Given the description of an element on the screen output the (x, y) to click on. 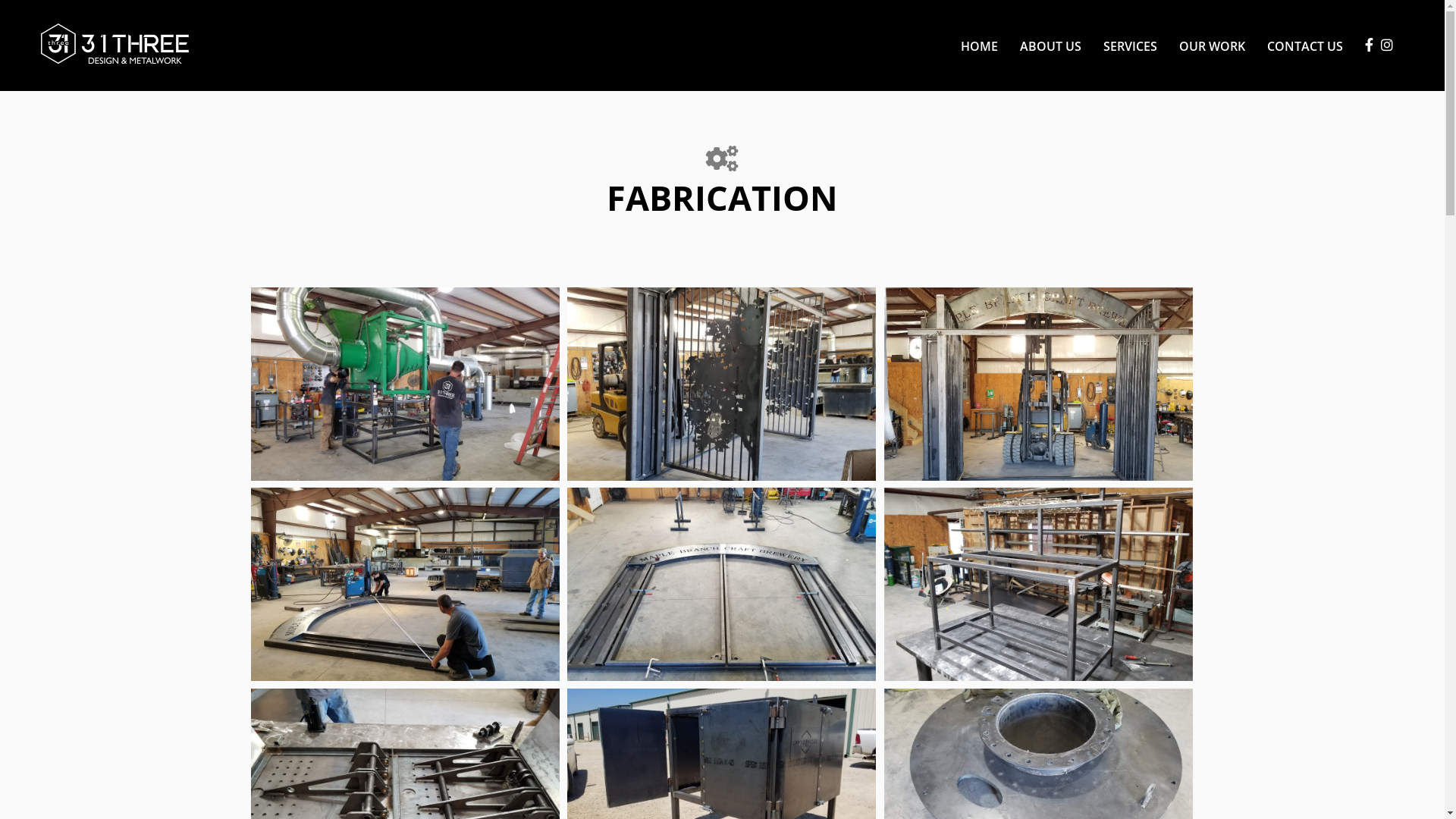
ABOUT US Element type: text (1050, 45)
SERVICES Element type: text (1129, 45)
OUR WORK Element type: text (1211, 45)
CONTACT US Element type: text (1299, 45)
HOME Element type: text (979, 45)
